Given the description of an element on the screen output the (x, y) to click on. 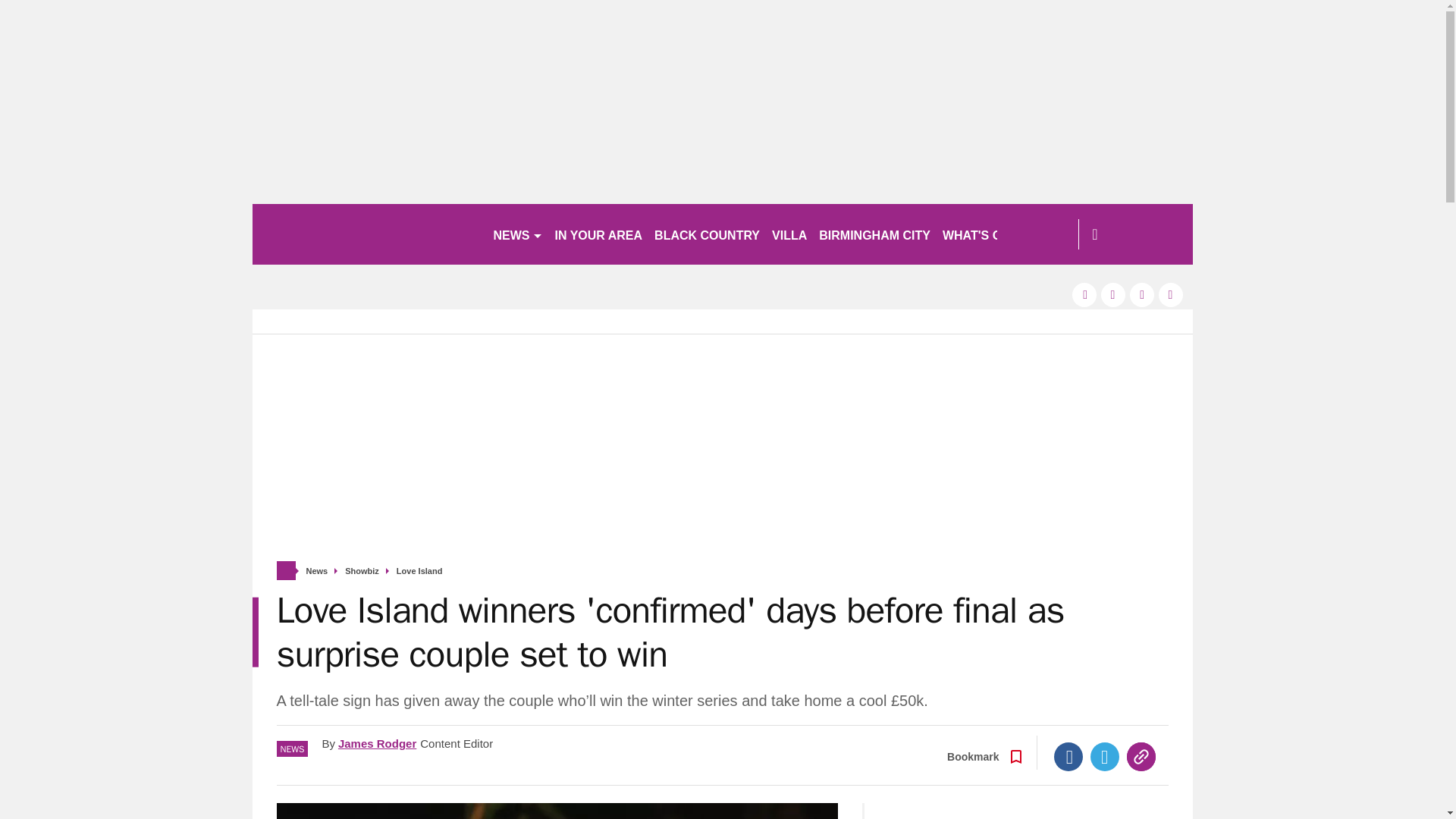
Twitter (1104, 756)
twitter (1112, 294)
BLACK COUNTRY (706, 233)
birminghammail (365, 233)
Facebook (1068, 756)
tiktok (1141, 294)
instagram (1170, 294)
IN YOUR AREA (598, 233)
BIRMINGHAM CITY (874, 233)
WHAT'S ON (982, 233)
facebook (1083, 294)
NEWS (517, 233)
